Given the description of an element on the screen output the (x, y) to click on. 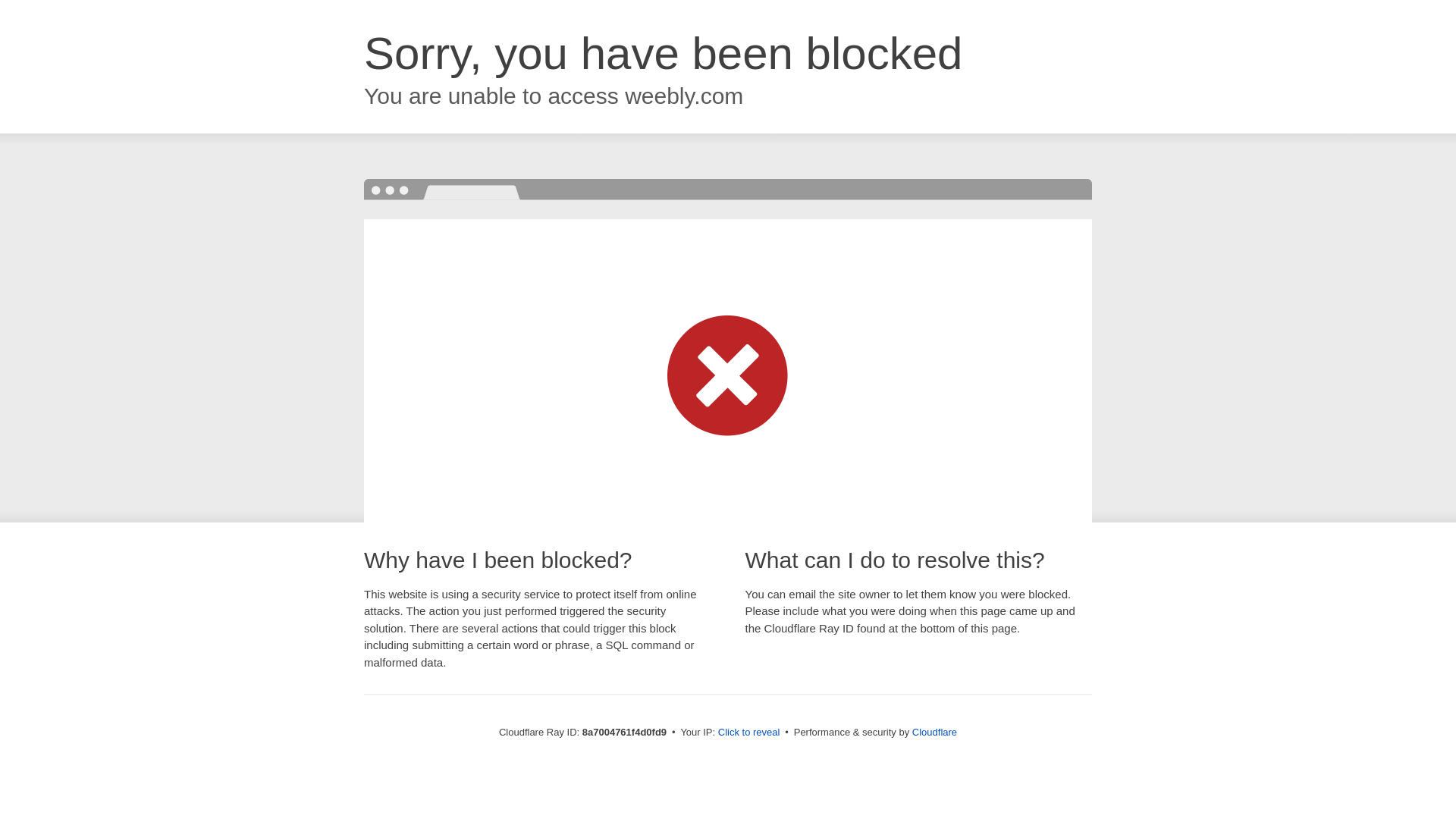
Click to reveal (748, 732)
Cloudflare (934, 731)
